Given the description of an element on the screen output the (x, y) to click on. 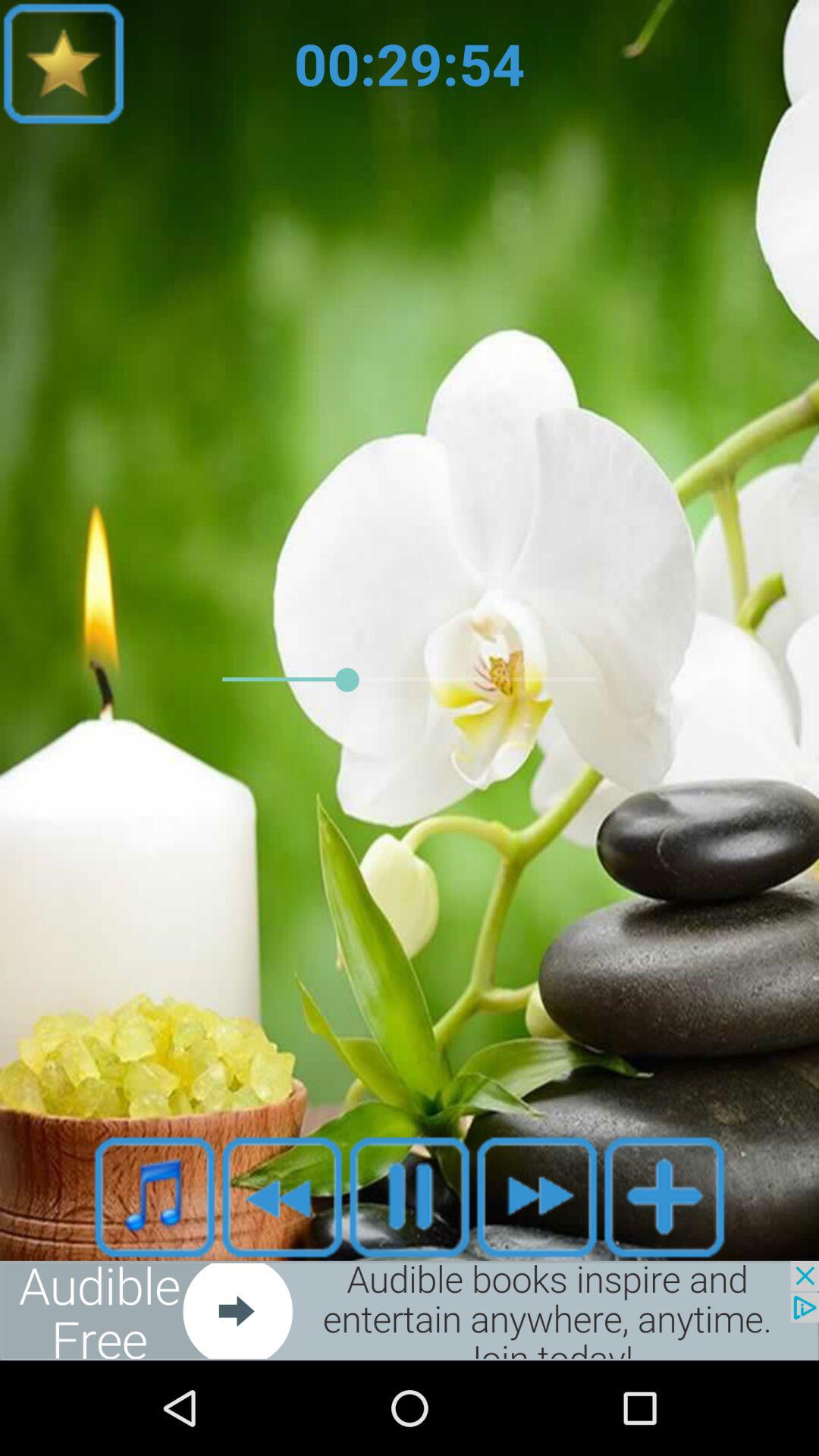
list music (154, 1196)
